Given the description of an element on the screen output the (x, y) to click on. 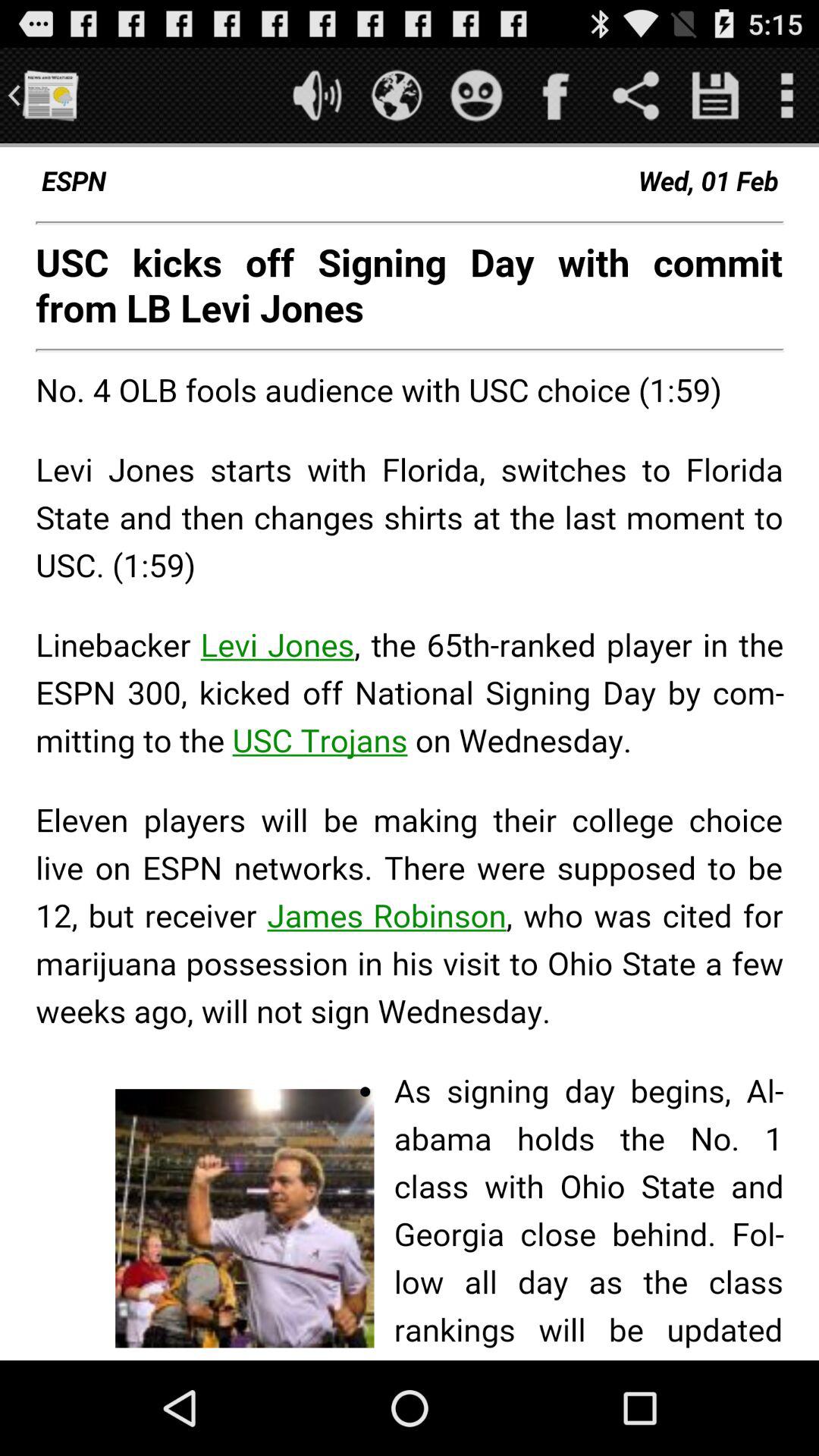
option button (787, 95)
